Given the description of an element on the screen output the (x, y) to click on. 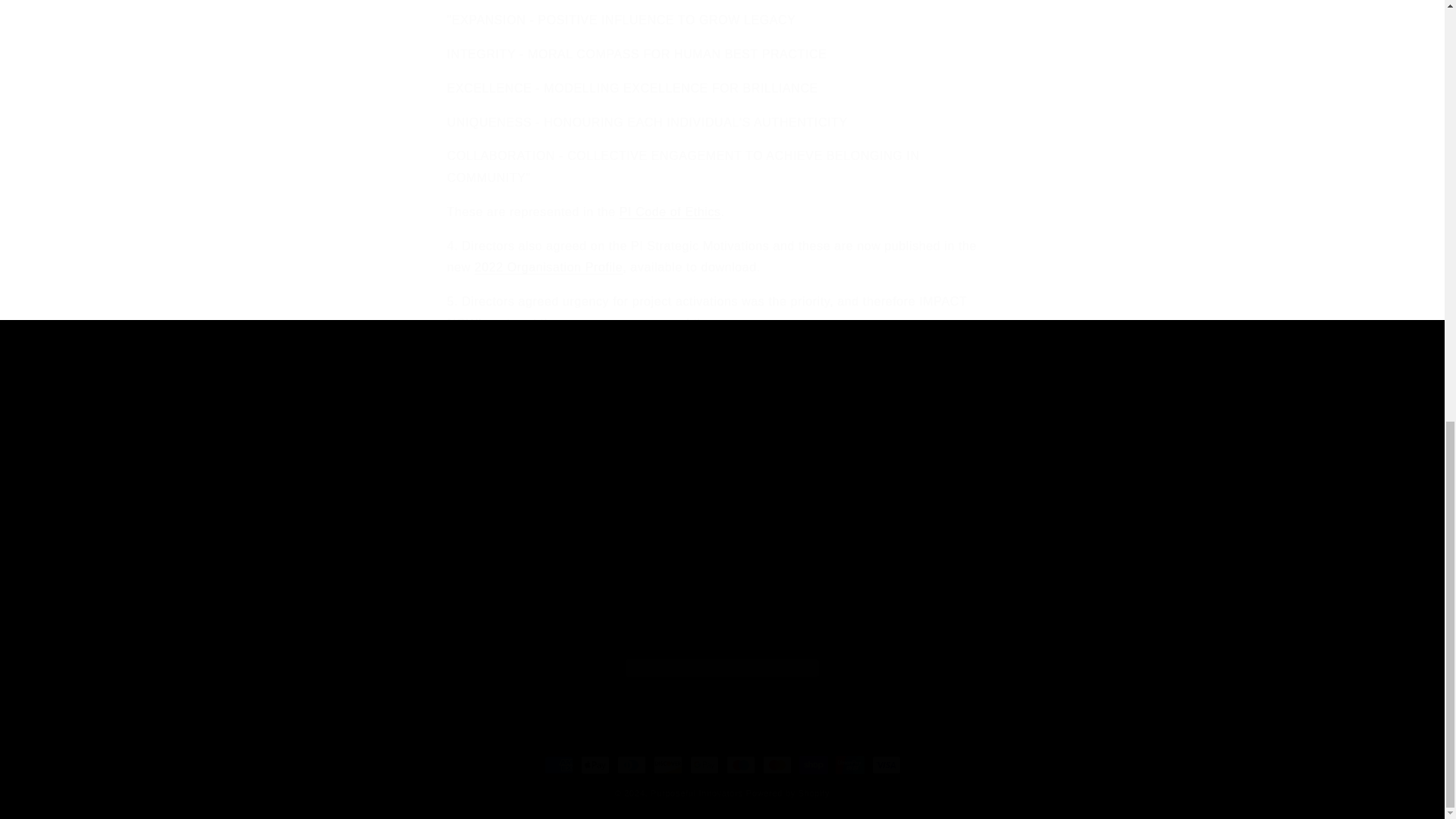
Purposeful Innovators 2022 Organisation Profile (548, 267)
Purposeful Innovators Code of Ethics (670, 211)
